Given the description of an element on the screen output the (x, y) to click on. 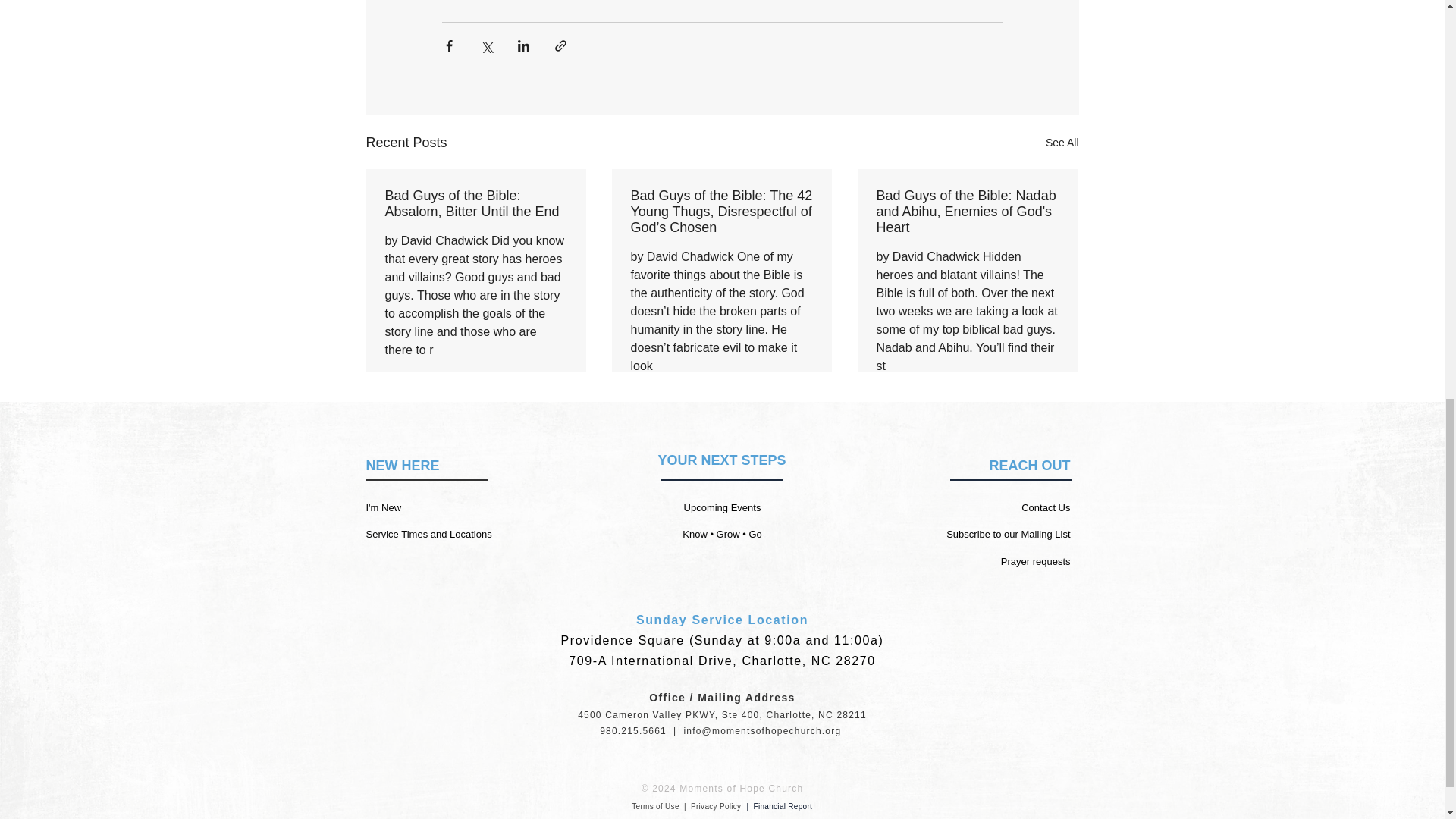
Bad Guys of the Bible: Absalom, Bitter Until the End (476, 204)
Service Times and Locations (428, 533)
See All (1061, 142)
I'm New (383, 507)
